Given the description of an element on the screen output the (x, y) to click on. 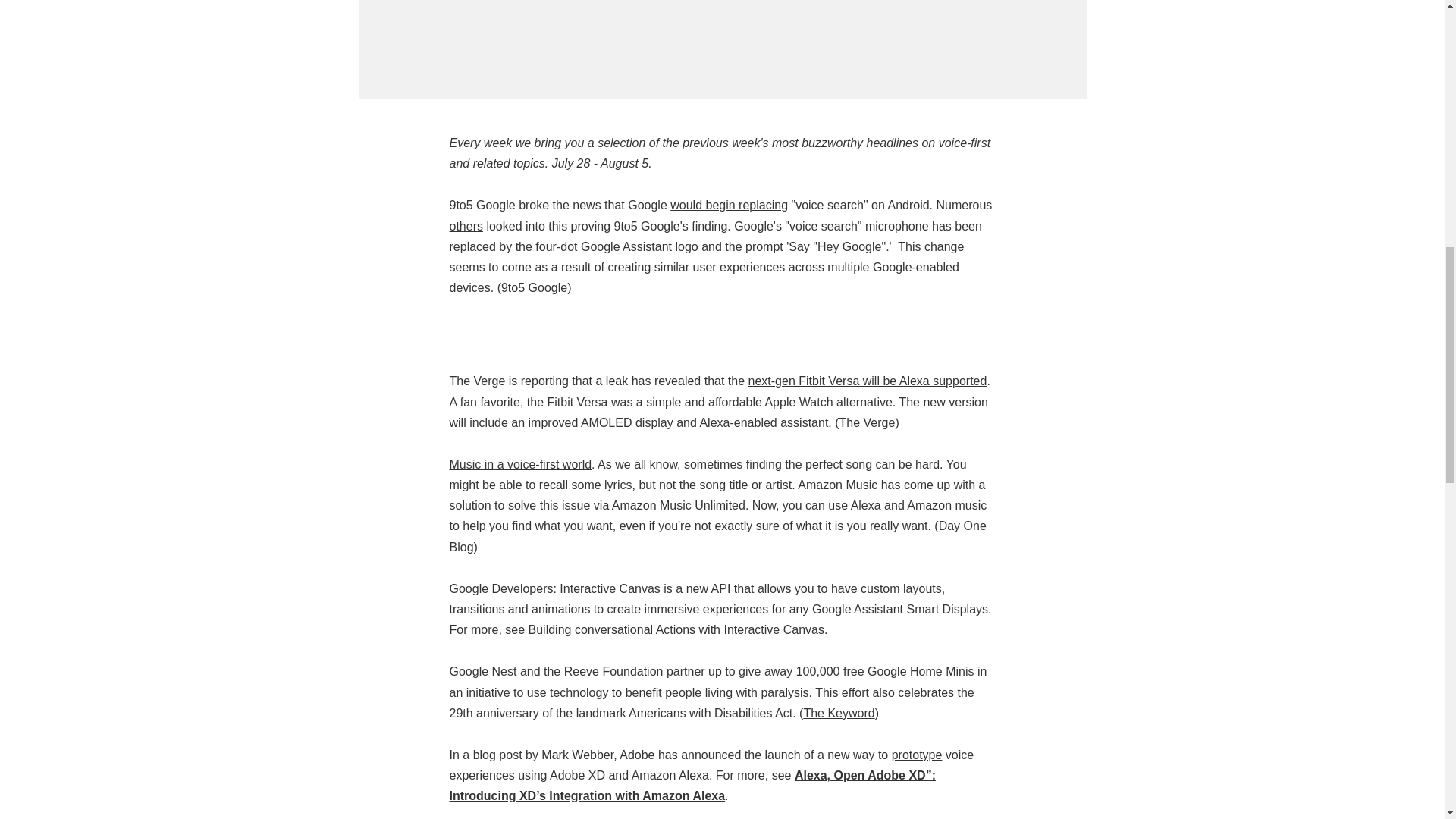
prototype (916, 754)
next-gen Fitbit Versa will be Alexa supported (867, 380)
Building conversational Actions with Interactive Canvas (676, 629)
Music in a voice-first world (519, 463)
The Keyword (839, 712)
others (464, 226)
would begin replacing (728, 205)
